Given the description of an element on the screen output the (x, y) to click on. 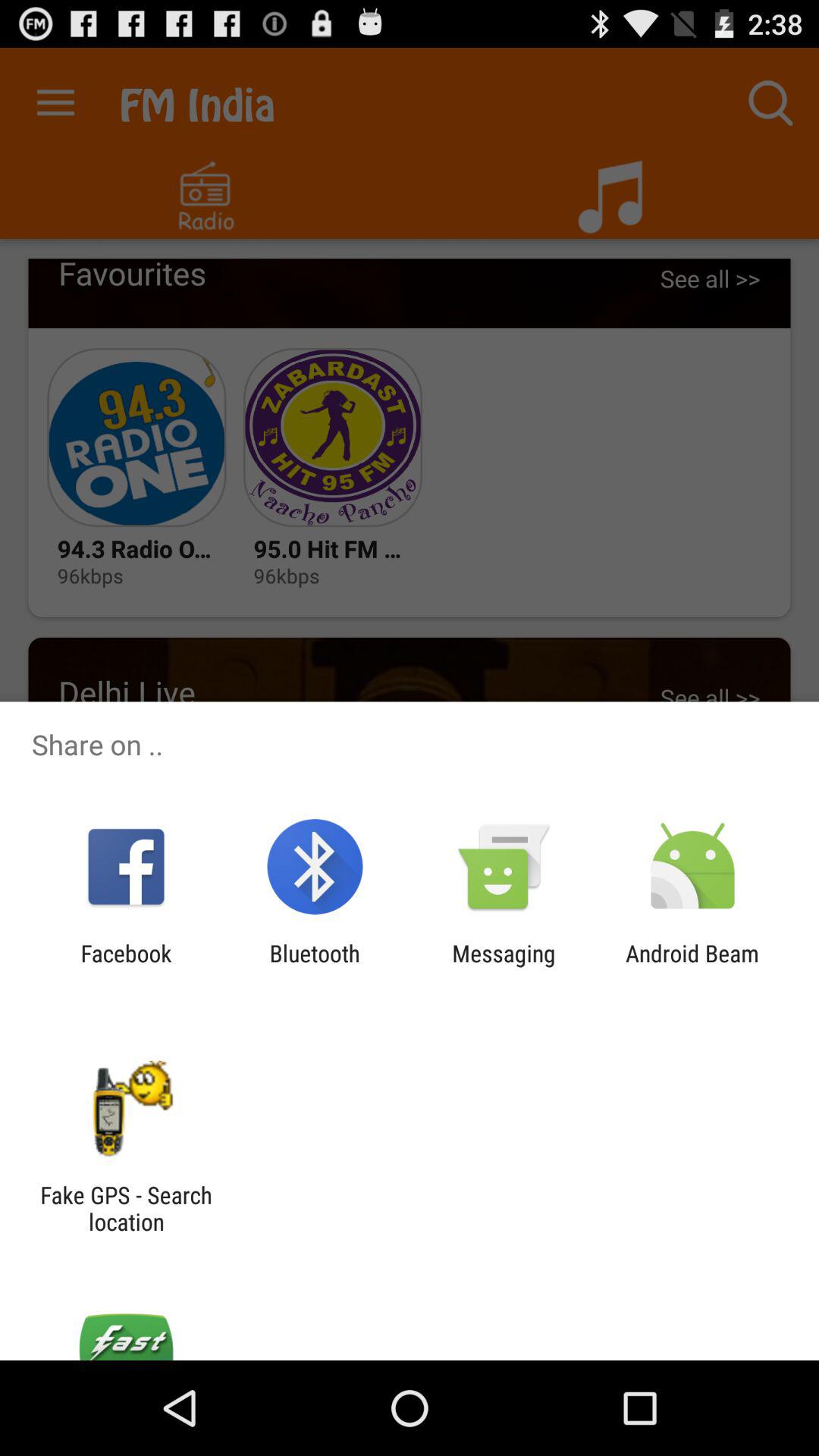
open the item next to messaging icon (692, 966)
